Given the description of an element on the screen output the (x, y) to click on. 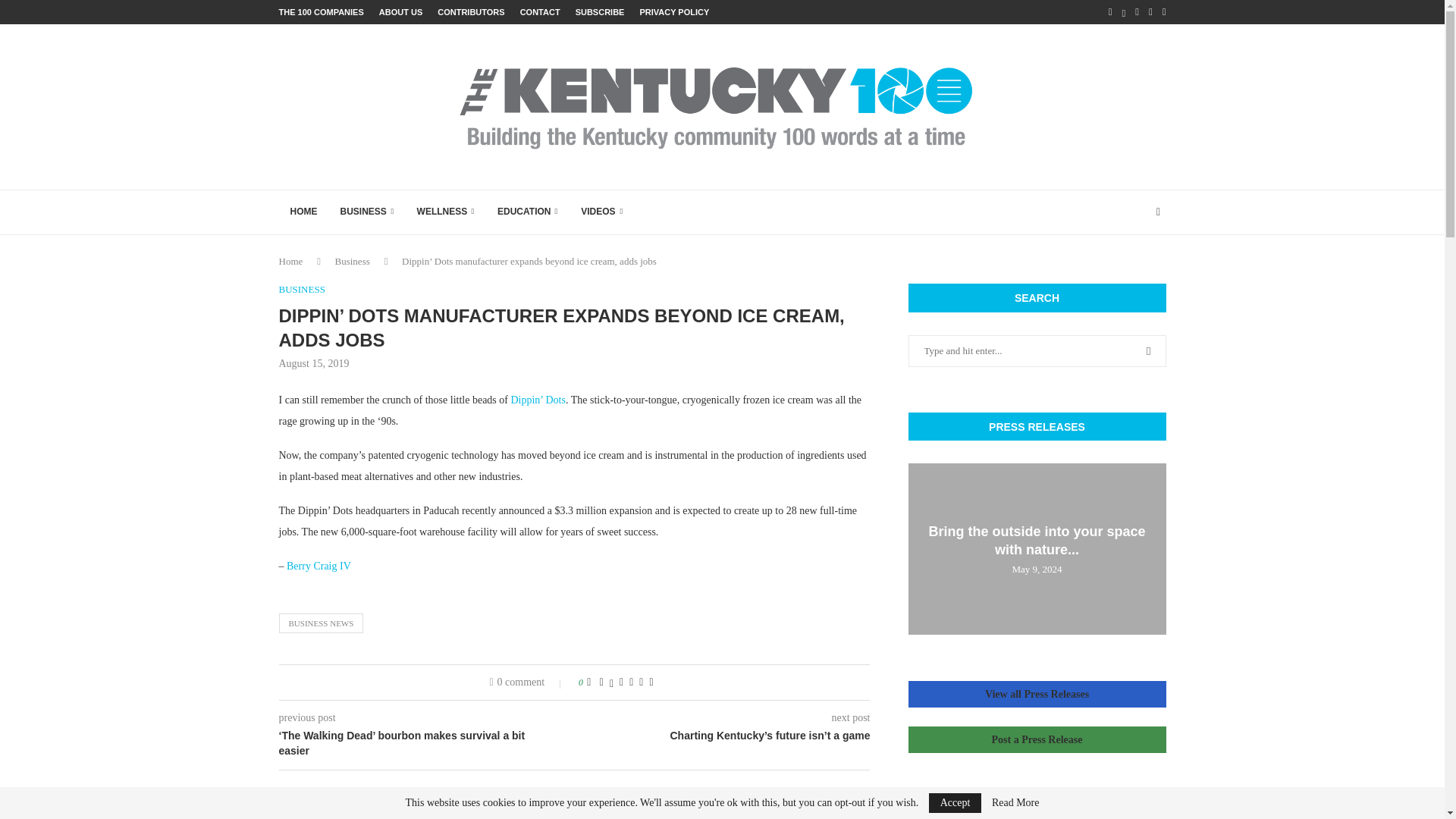
THE 100 COMPANIES (321, 12)
HOME (304, 212)
ABOUT US (400, 12)
SUBSCRIBE (599, 12)
PRIVACY POLICY (674, 12)
CONTACT (539, 12)
BUSINESS (367, 212)
CONTRIBUTORS (470, 12)
